Given the description of an element on the screen output the (x, y) to click on. 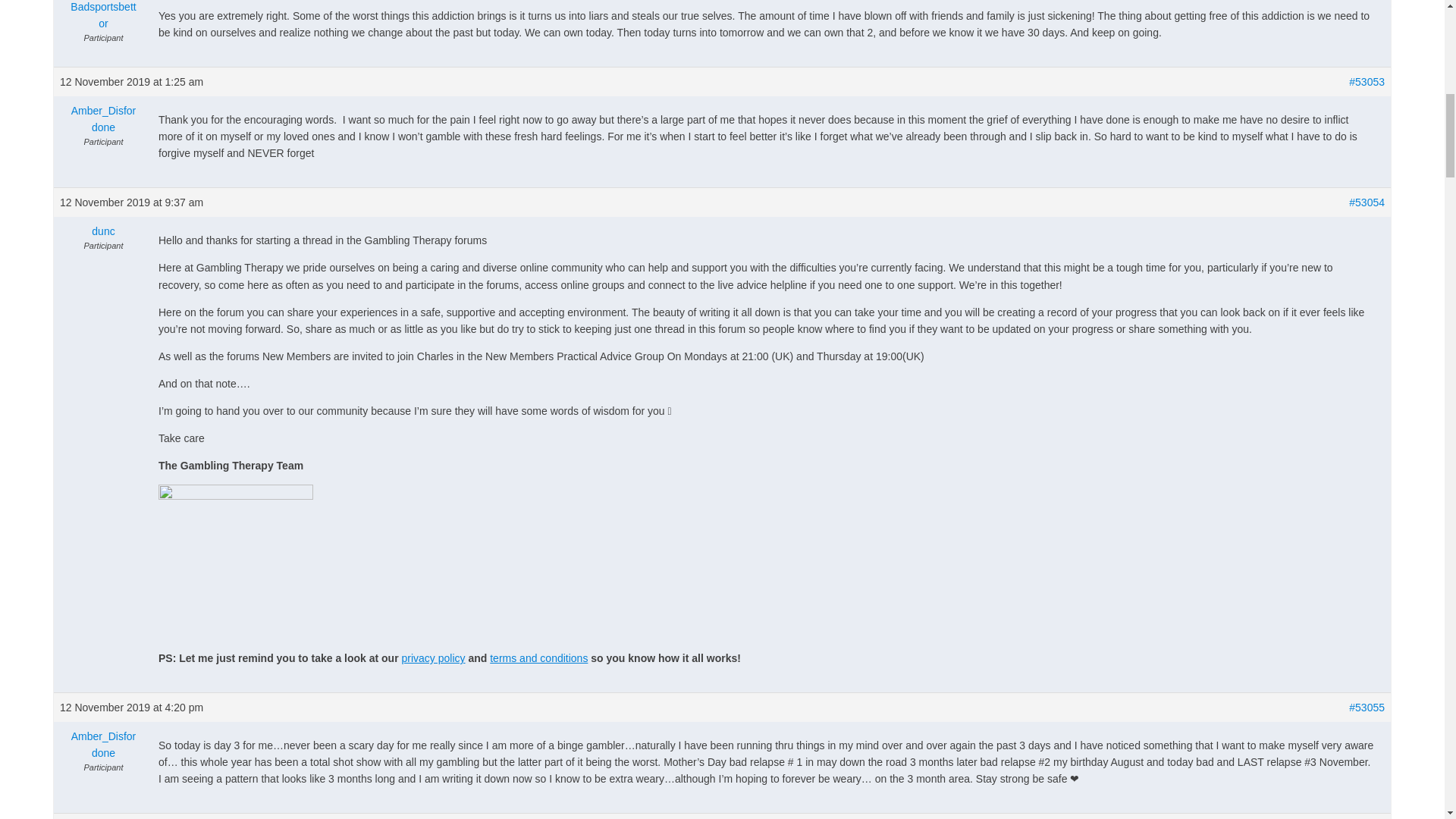
View dunc's profile (103, 230)
View Badsportsbettor's profile (103, 15)
